Given the description of an element on the screen output the (x, y) to click on. 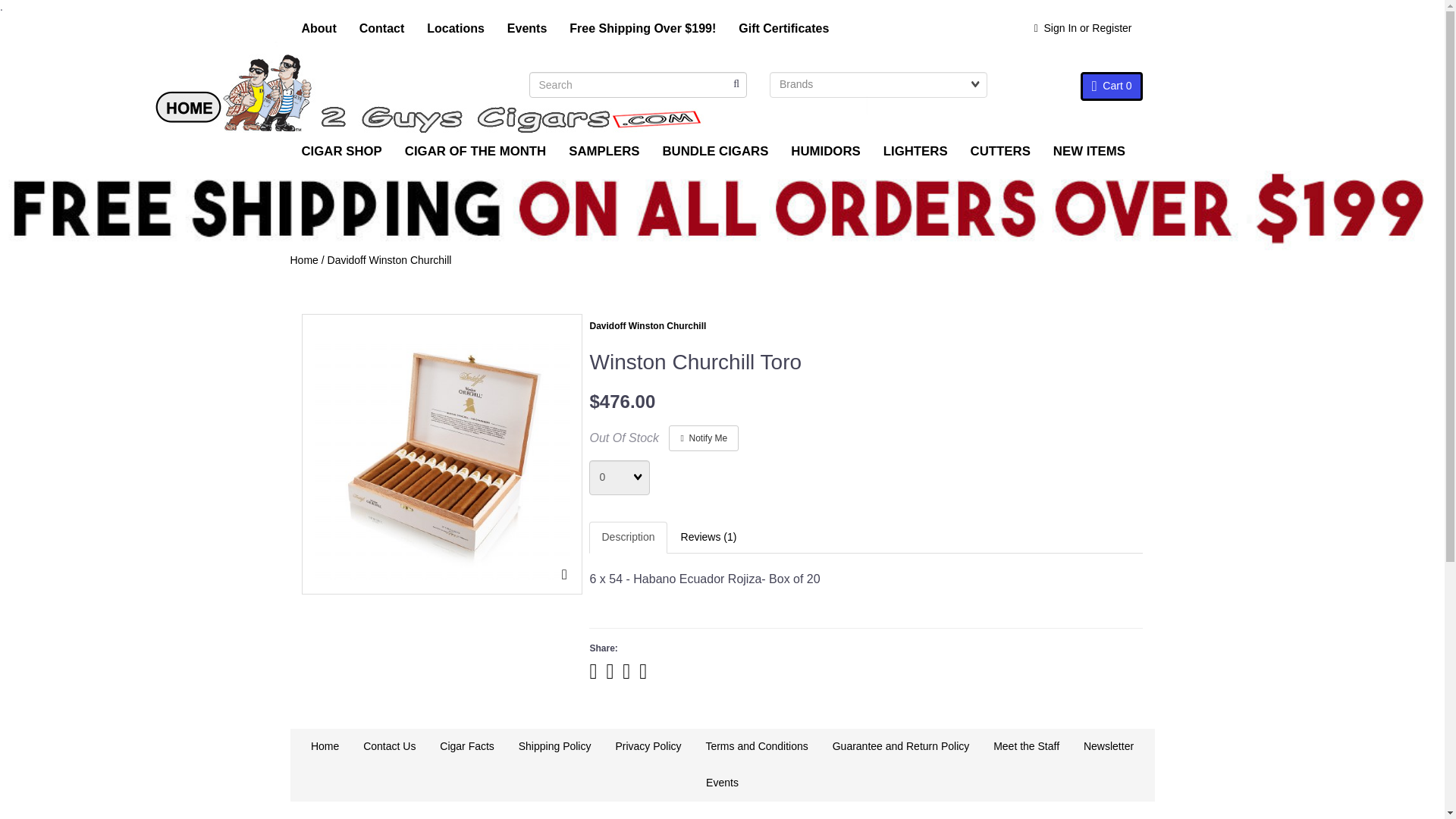
  Notify Me (703, 438)
CIGAR SHOP (341, 151)
  Cart 0 (1111, 86)
LIGHTERS (915, 151)
Contact (381, 28)
BUNDLE CIGARS (714, 151)
SAMPLERS (603, 151)
HUMIDORS (824, 151)
Events (526, 28)
Winston Churchill Toro (441, 454)
Locations (455, 28)
Gift Certificates (783, 28)
Description (627, 537)
CIGAR OF THE MONTH (475, 151)
  Sign In or Register (1082, 28)
